Given the description of an element on the screen output the (x, y) to click on. 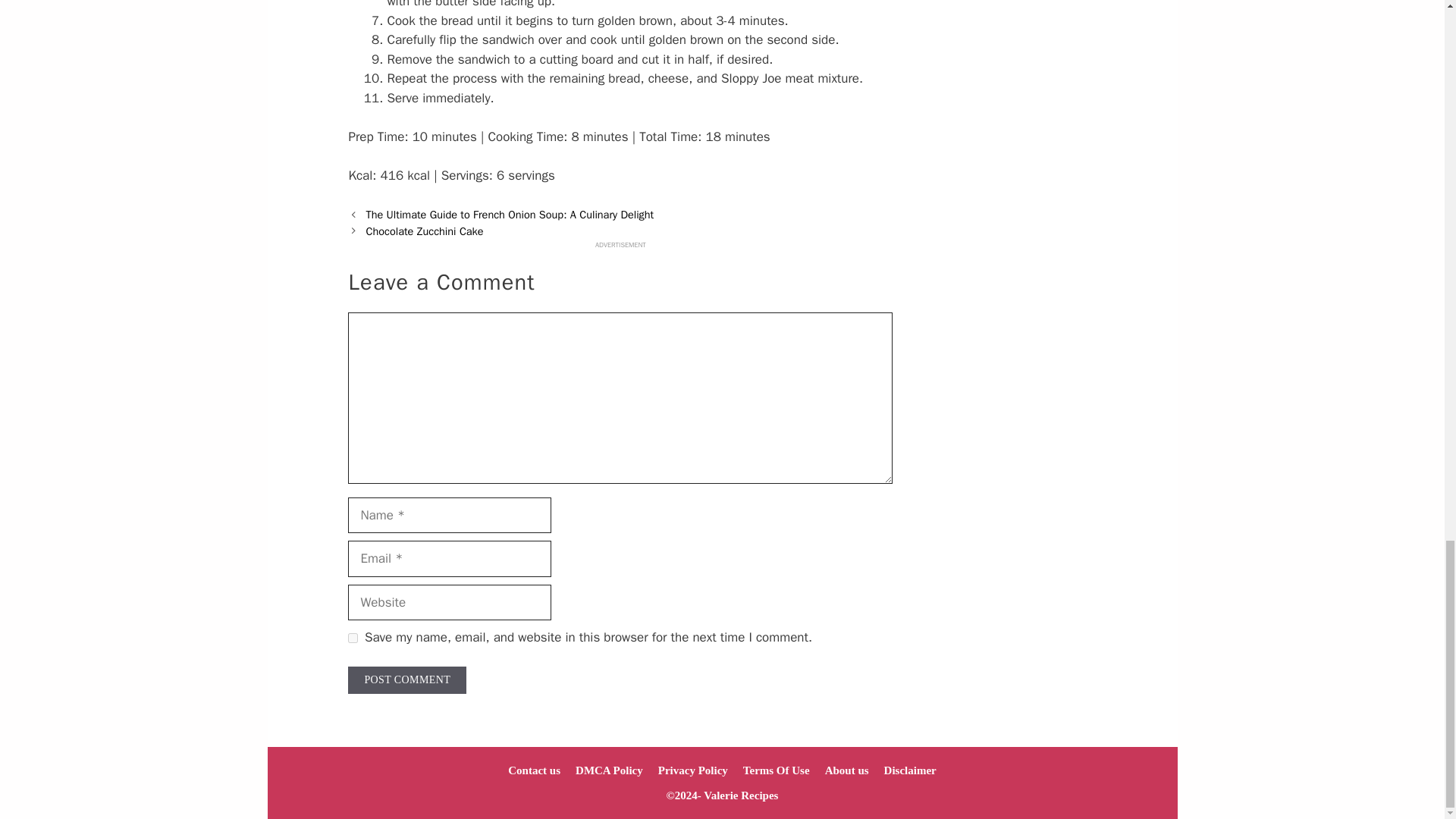
Terms Of Use (775, 770)
Disclaimer (909, 770)
Privacy Policy (693, 770)
Chocolate Zucchini Cake (424, 231)
Post Comment (406, 679)
About us (847, 770)
Contact us (534, 770)
yes (352, 637)
Post Comment (406, 679)
DMCA Policy (609, 770)
The Ultimate Guide to French Onion Soup: A Culinary Delight (509, 214)
